Given the description of an element on the screen output the (x, y) to click on. 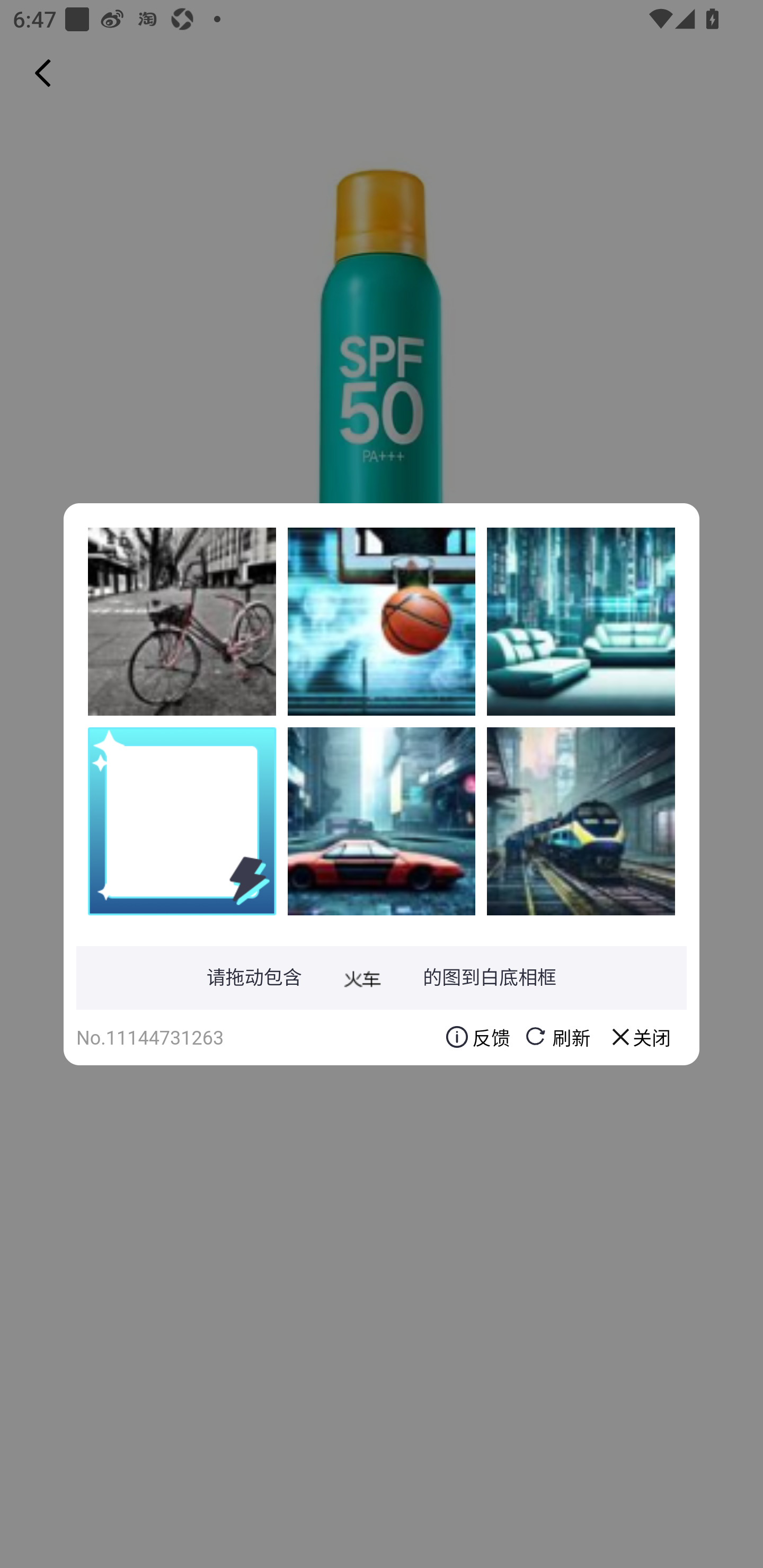
Pn2lj4LH9+H6m7FxwjgZNHiATBk7Rr (181, 621)
+02KBIbFv2GLJK8qiWqq5ZXoLVmNocTRaYWVjAqcJ (580, 621)
j (381, 820)
